Given the description of an element on the screen output the (x, y) to click on. 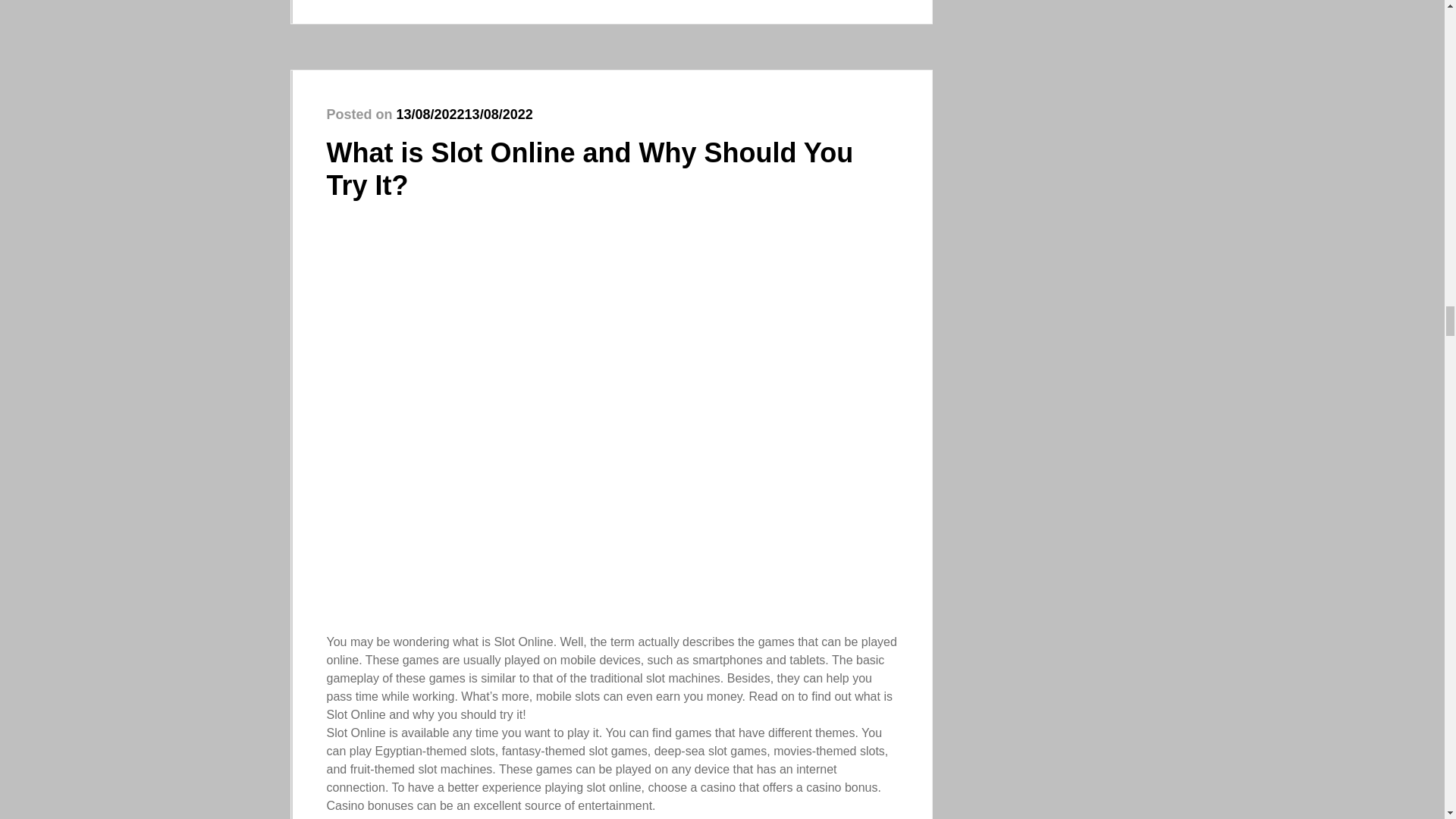
What is Slot Online and Why Should You Try It? (589, 168)
